Given the description of an element on the screen output the (x, y) to click on. 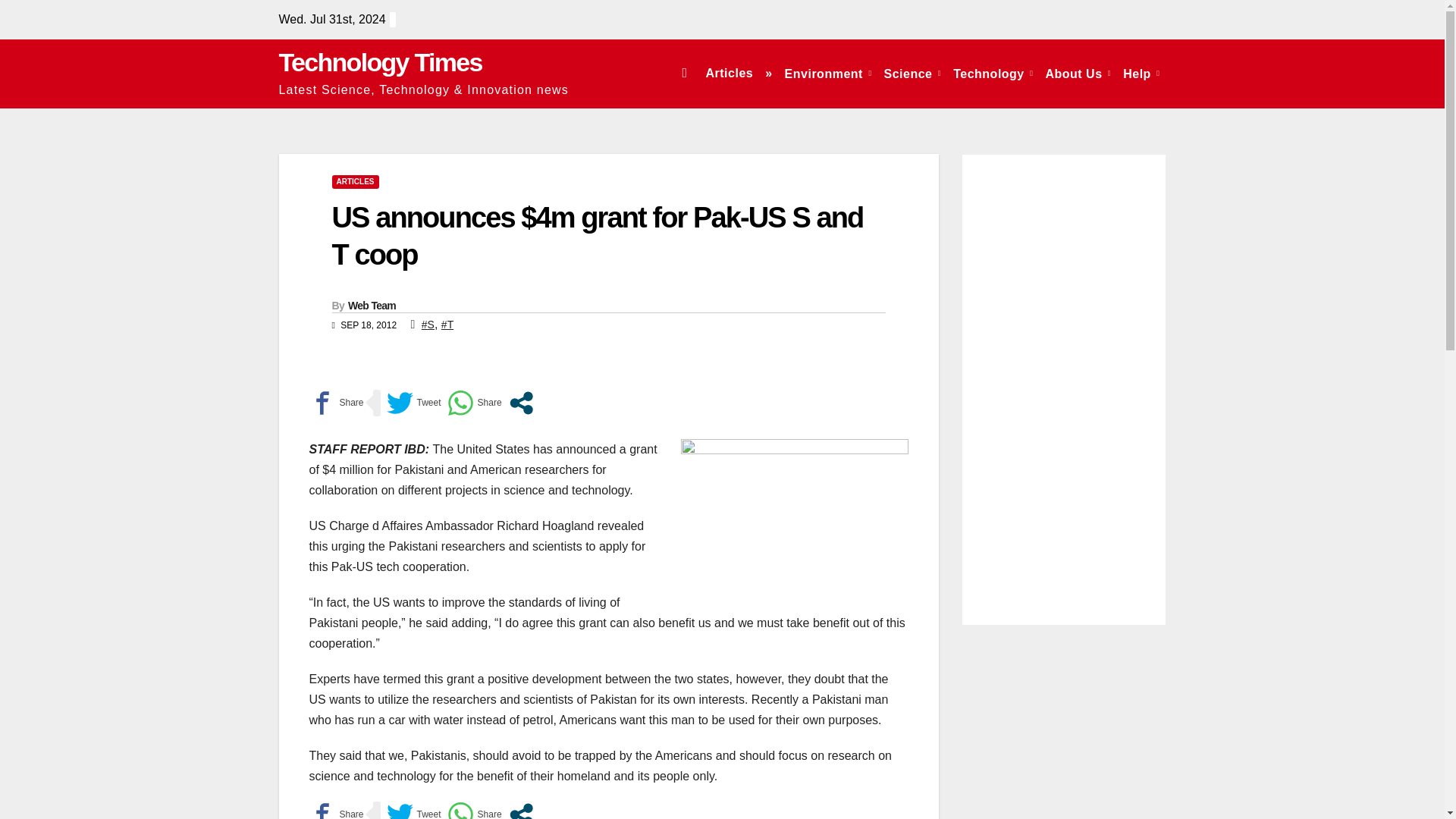
About Us (1077, 73)
Science (912, 73)
Technology Times (380, 61)
Environment (827, 73)
Science (912, 73)
Environment (827, 73)
Technology (993, 73)
Technology (993, 73)
